Given the description of an element on the screen output the (x, y) to click on. 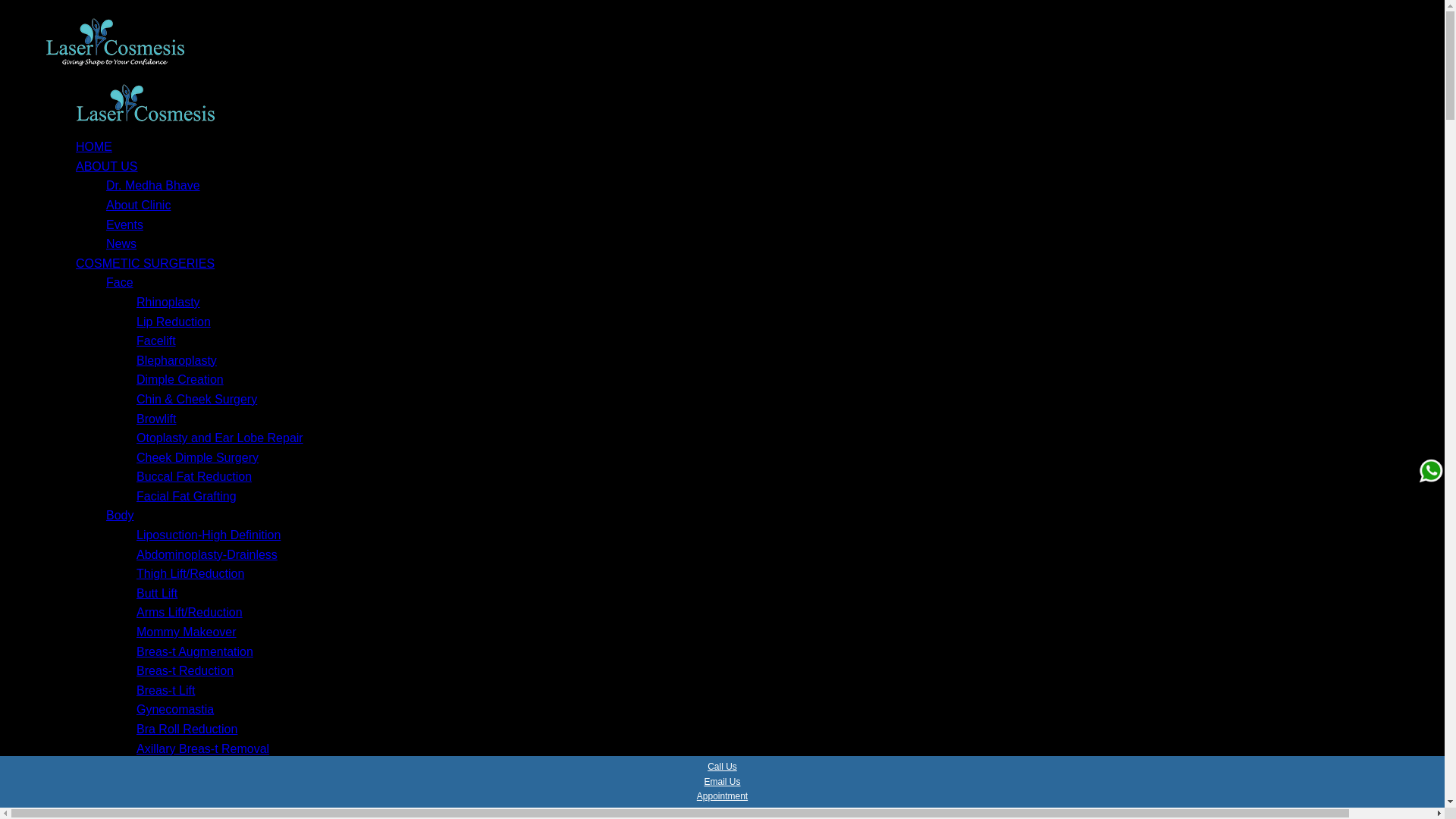
Mommy Makeover (185, 631)
Events (124, 224)
Dimple Creation (180, 379)
BodyTite (160, 806)
Abdominoplasty-Drainless (207, 554)
Rhinoplasty (168, 301)
News (121, 243)
Breas-t Lift (165, 689)
HOME (93, 146)
About Clinic (138, 205)
Liposuction-High Definition (208, 534)
Butt Lift (156, 593)
Buccal Fat Reduction (193, 476)
Cheek Dimple Surgery (197, 457)
Granny Makeover (184, 787)
